Given the description of an element on the screen output the (x, y) to click on. 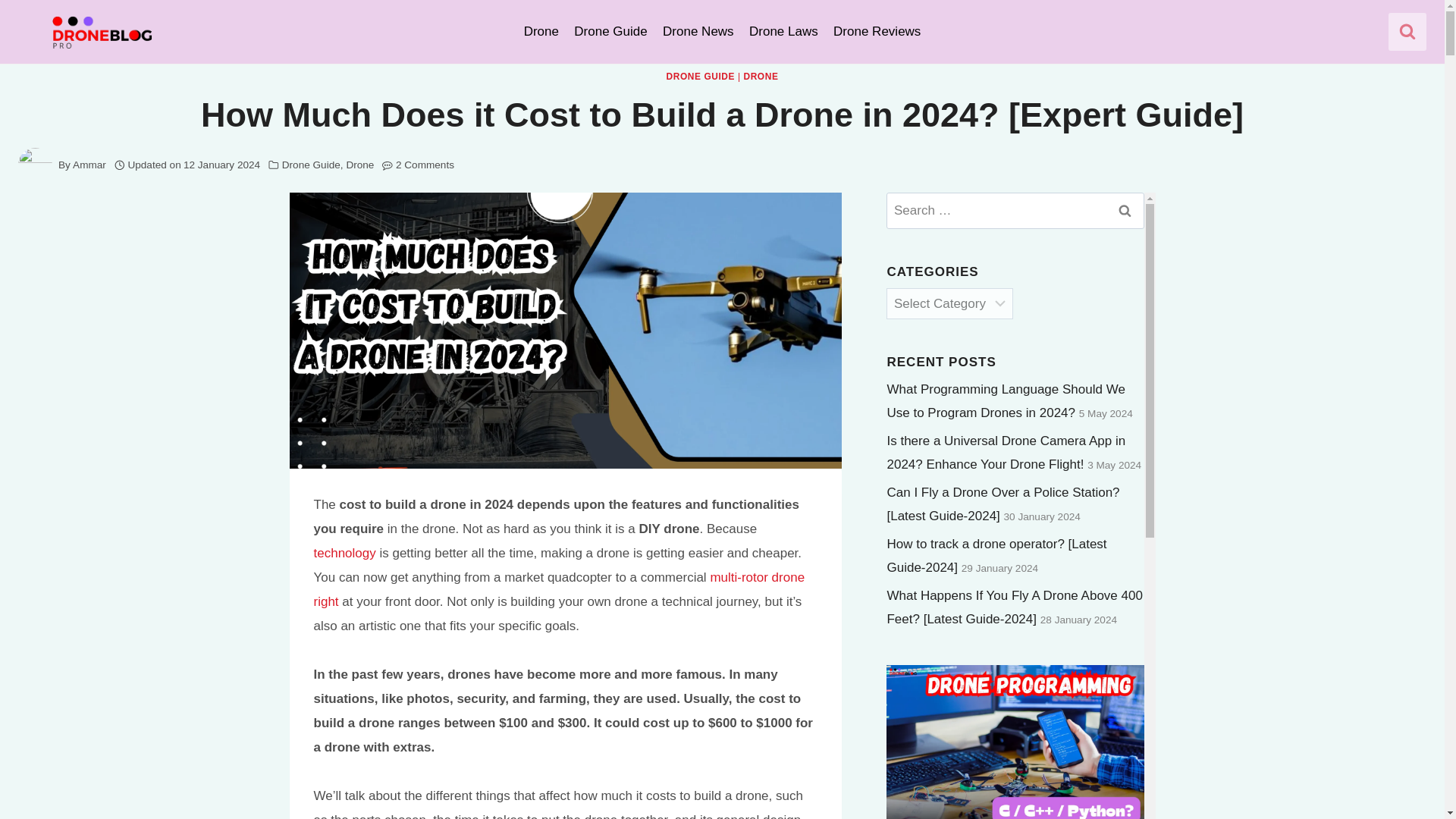
2 Comments (425, 165)
Drone Laws (783, 31)
Drone (360, 164)
DRONE (759, 76)
technology (344, 553)
Drone Guide (311, 164)
Search (1123, 210)
Drone Guide (610, 31)
Ammar (89, 164)
DRONE GUIDE (700, 76)
